Given the description of an element on the screen output the (x, y) to click on. 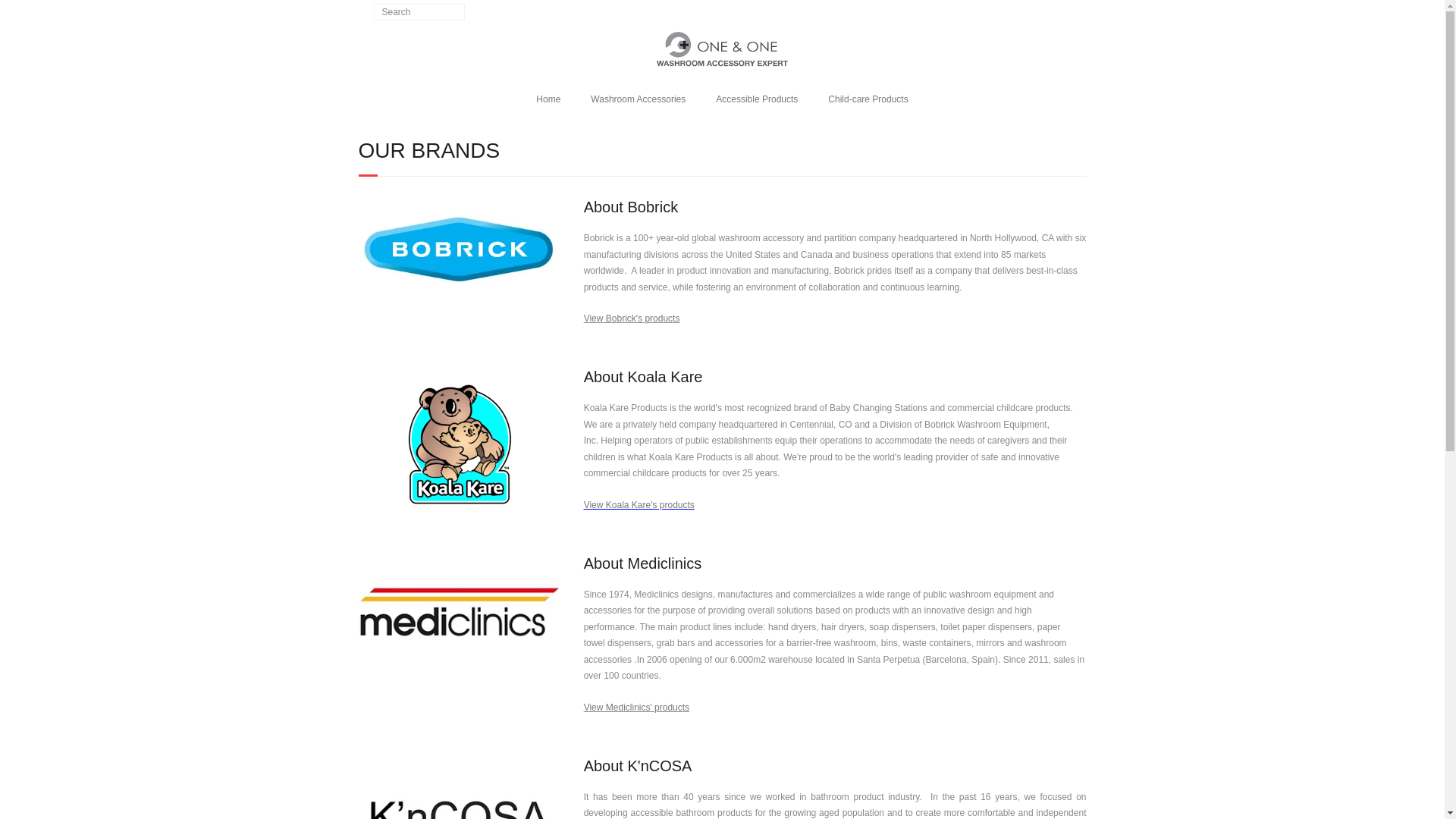
Child-care Products (867, 99)
View Mediclinics' products (635, 706)
View Bobrick's products (631, 317)
View Koala Kare's products (638, 504)
Search (25, 9)
Child-care Products (867, 99)
Washroom Accessories (637, 99)
Washroom Accessories (637, 99)
Accessible Products (756, 99)
Accessible Products (756, 99)
